Given the description of an element on the screen output the (x, y) to click on. 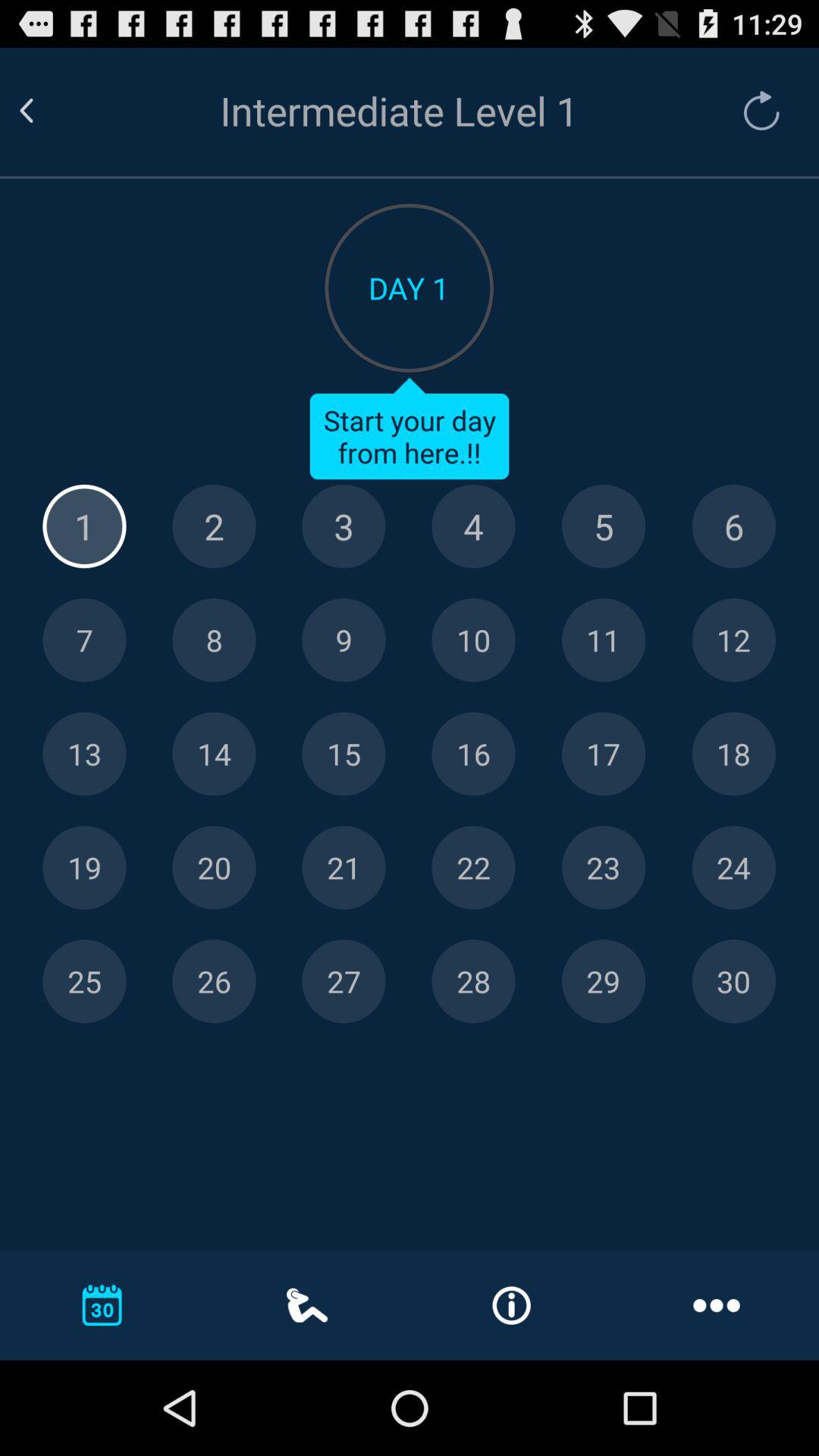
go to day 17 (603, 753)
